Given the description of an element on the screen output the (x, y) to click on. 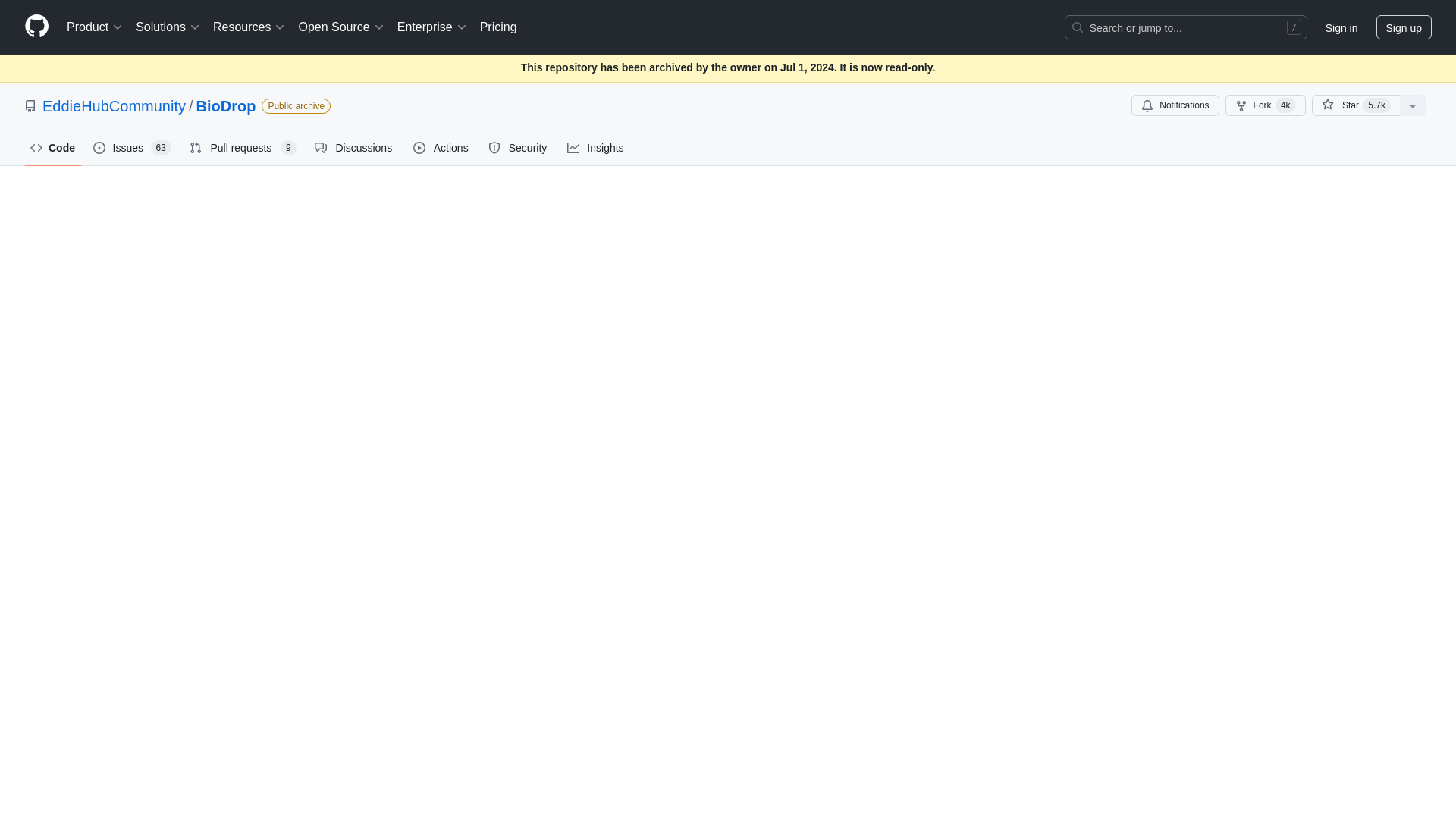
63 (161, 147)
Open Source (341, 27)
Product (95, 27)
3,989 (1285, 105)
Resources (249, 27)
5,742 (1376, 105)
Solutions (167, 27)
9 (289, 147)
